Given the description of an element on the screen output the (x, y) to click on. 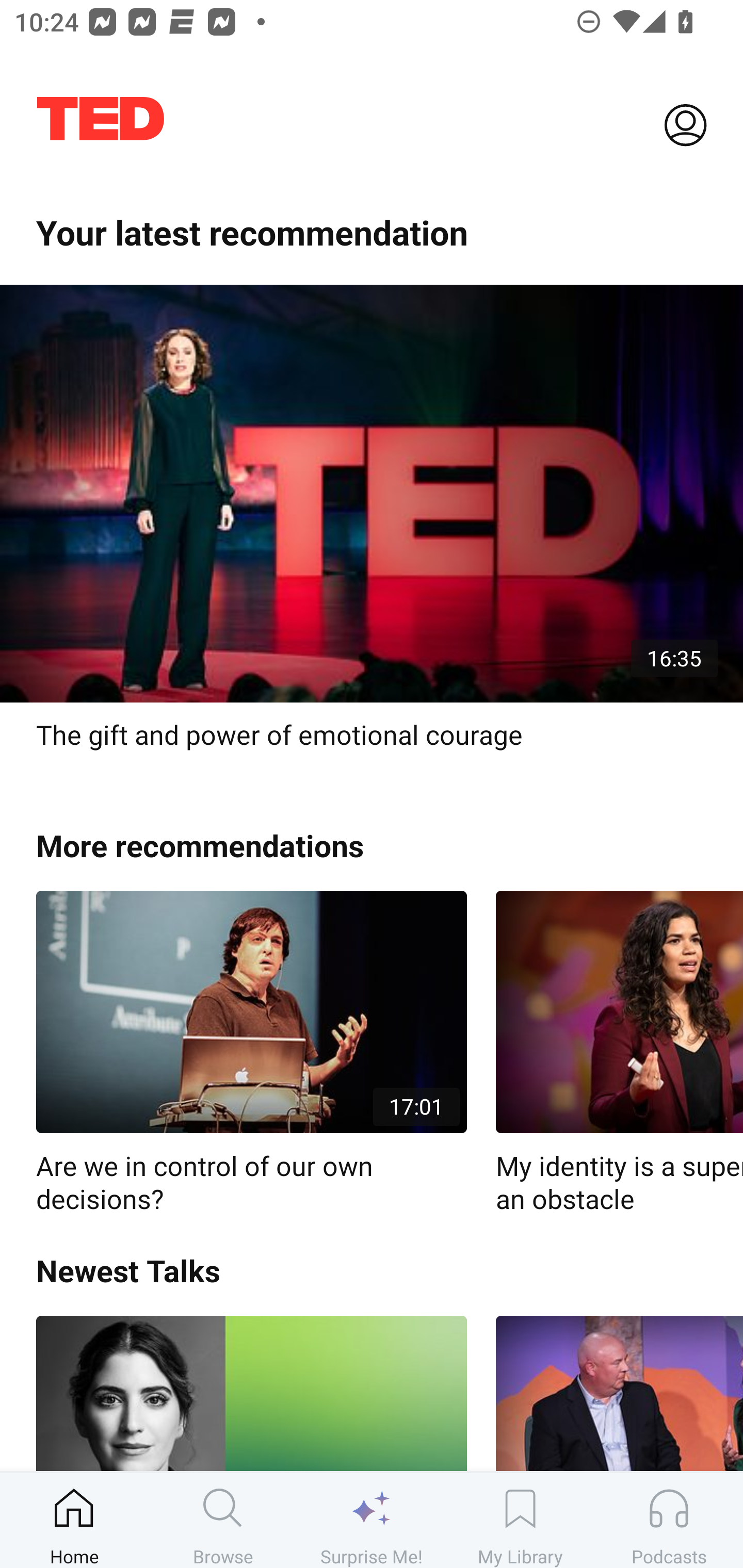
17:01 Are we in control of our own decisions? (251, 1053)
My identity is a superpower -- not an obstacle (619, 1053)
Home (74, 1520)
Browse (222, 1520)
Surprise Me! (371, 1520)
My Library (519, 1520)
Podcasts (668, 1520)
